Given the description of an element on the screen output the (x, y) to click on. 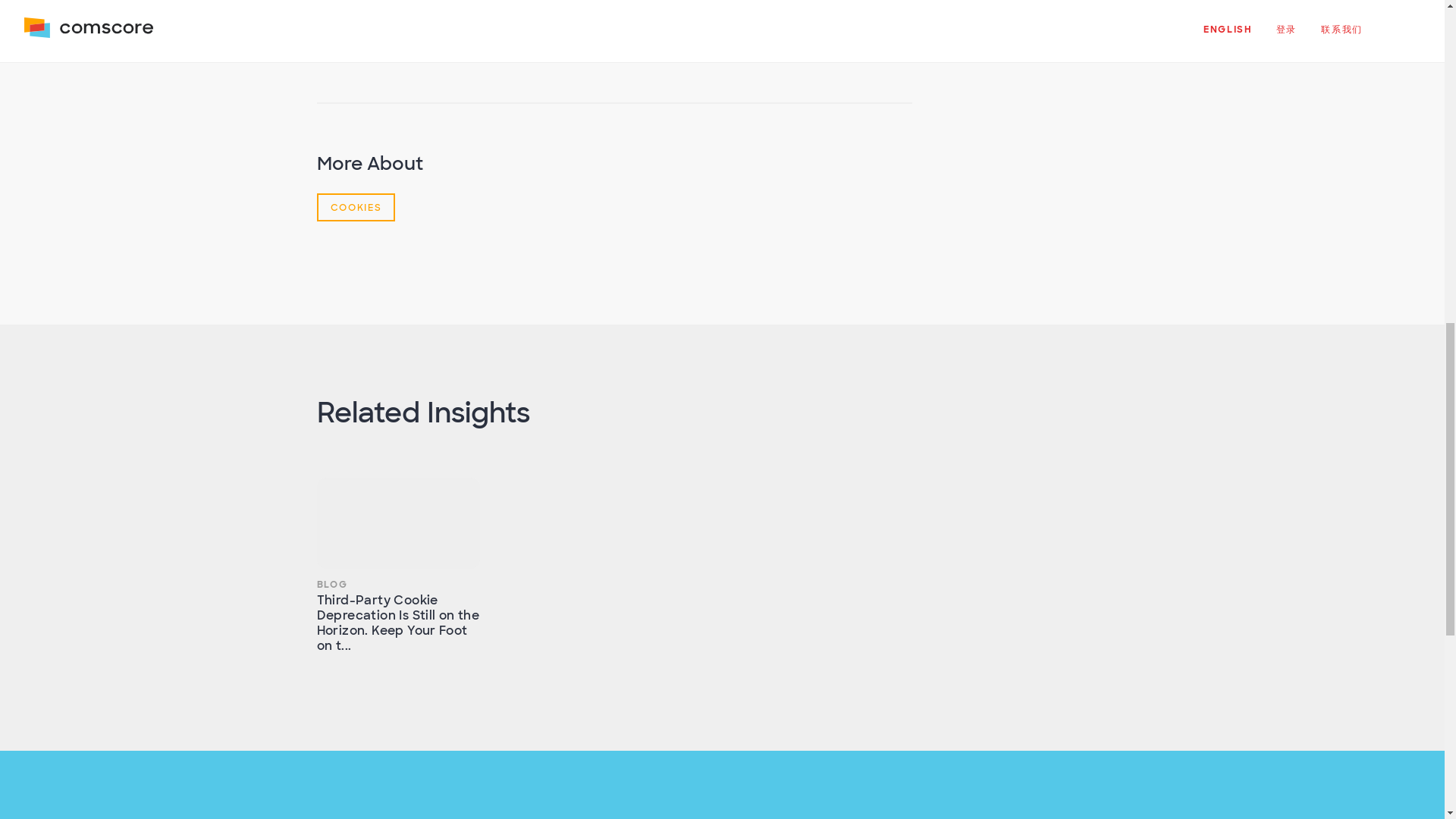
COOKIES (356, 207)
